Given the description of an element on the screen output the (x, y) to click on. 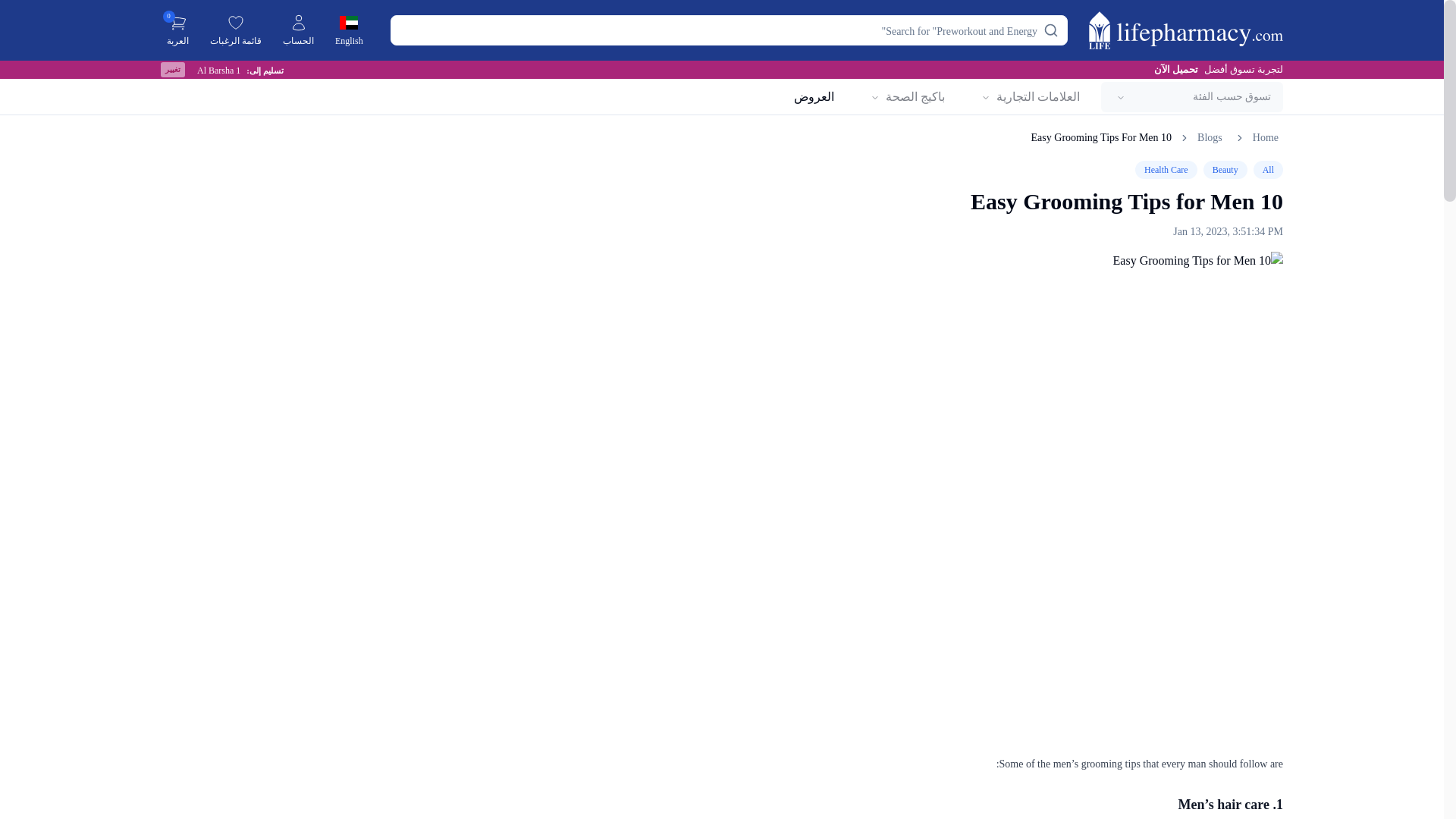
Home (1265, 137)
Beauty (1225, 169)
Health Care (1165, 169)
Blogs (1209, 137)
All (1267, 169)
